Given the description of an element on the screen output the (x, y) to click on. 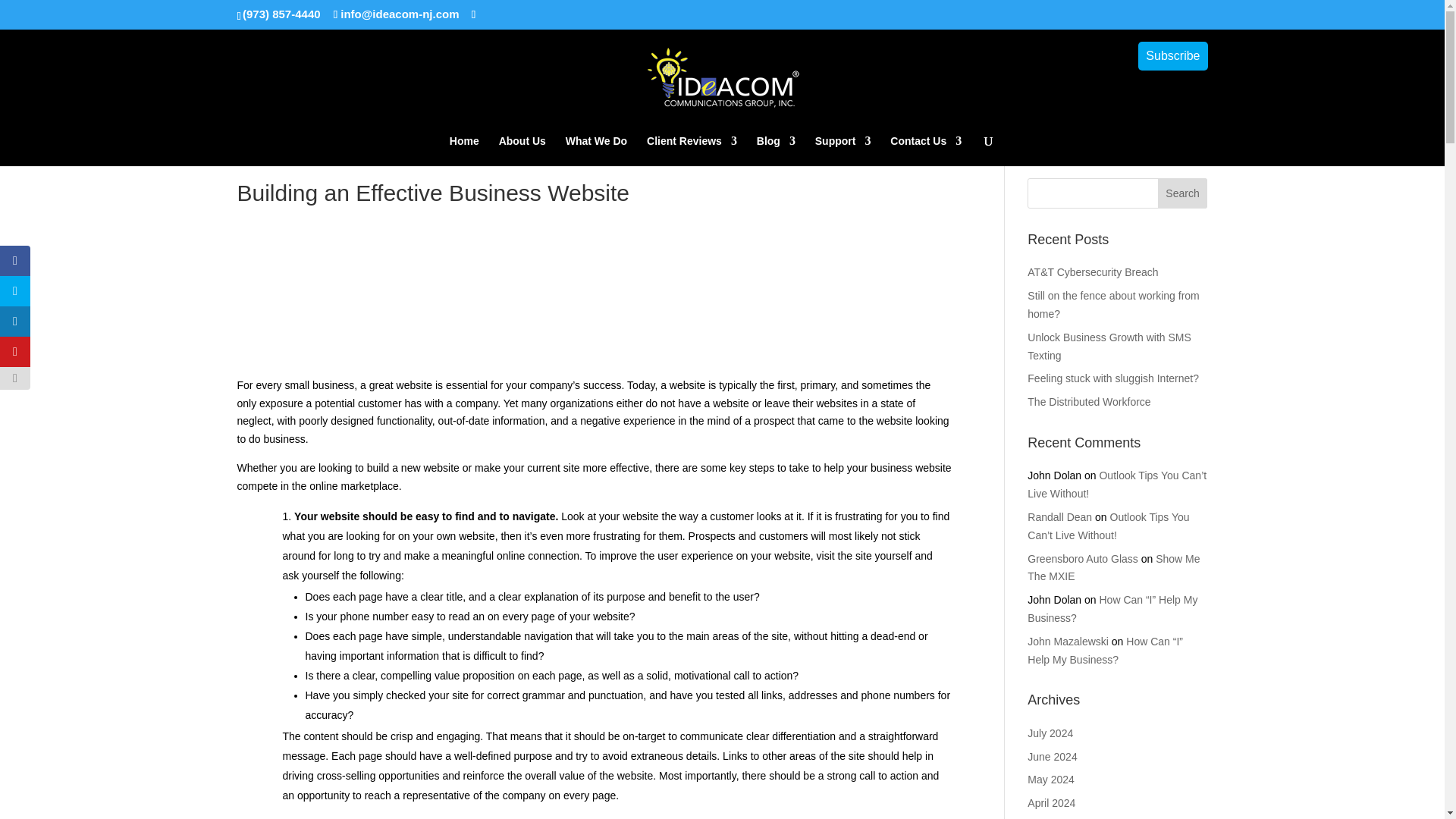
What We Do (596, 150)
Blog (775, 150)
Search (1182, 193)
About Us (522, 150)
Home (464, 150)
Client Reviews (691, 150)
Support (842, 150)
Subscribe (1172, 55)
